Given the description of an element on the screen output the (x, y) to click on. 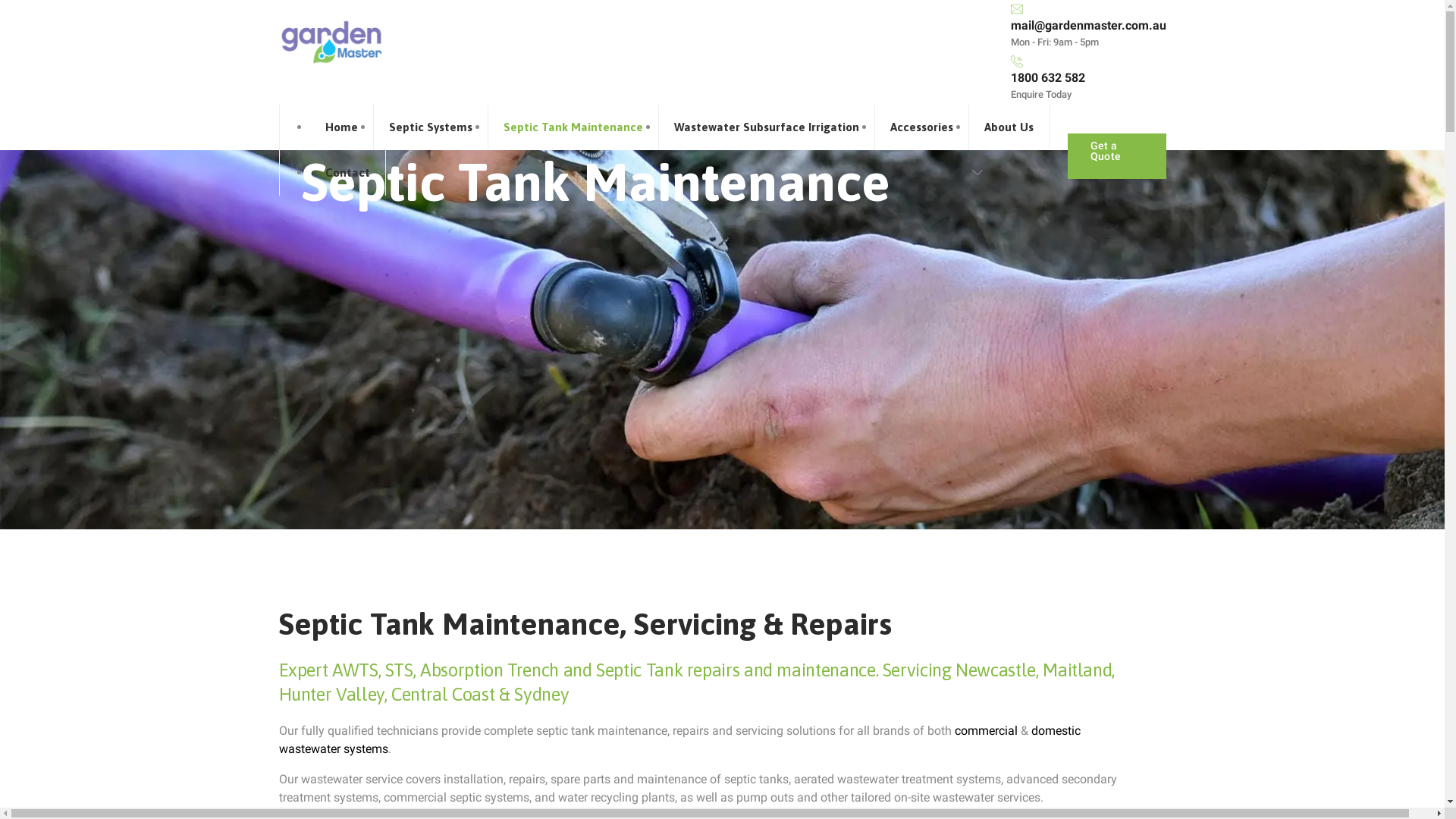
Contact Element type: text (346, 172)
domestic wastewater systems Element type: text (679, 739)
Get a Quote Element type: text (1116, 150)
commercial Element type: text (984, 730)
Septic Systems Element type: text (429, 127)
About Us Element type: text (1008, 127)
Garden Master Element type: hover (331, 42)
Home Element type: text (340, 127)
Accessories Element type: text (921, 127)
Septic Tank Maintenance Element type: text (573, 127)
Wastewater Subsurface Irrigation Element type: text (765, 127)
